Given the description of an element on the screen output the (x, y) to click on. 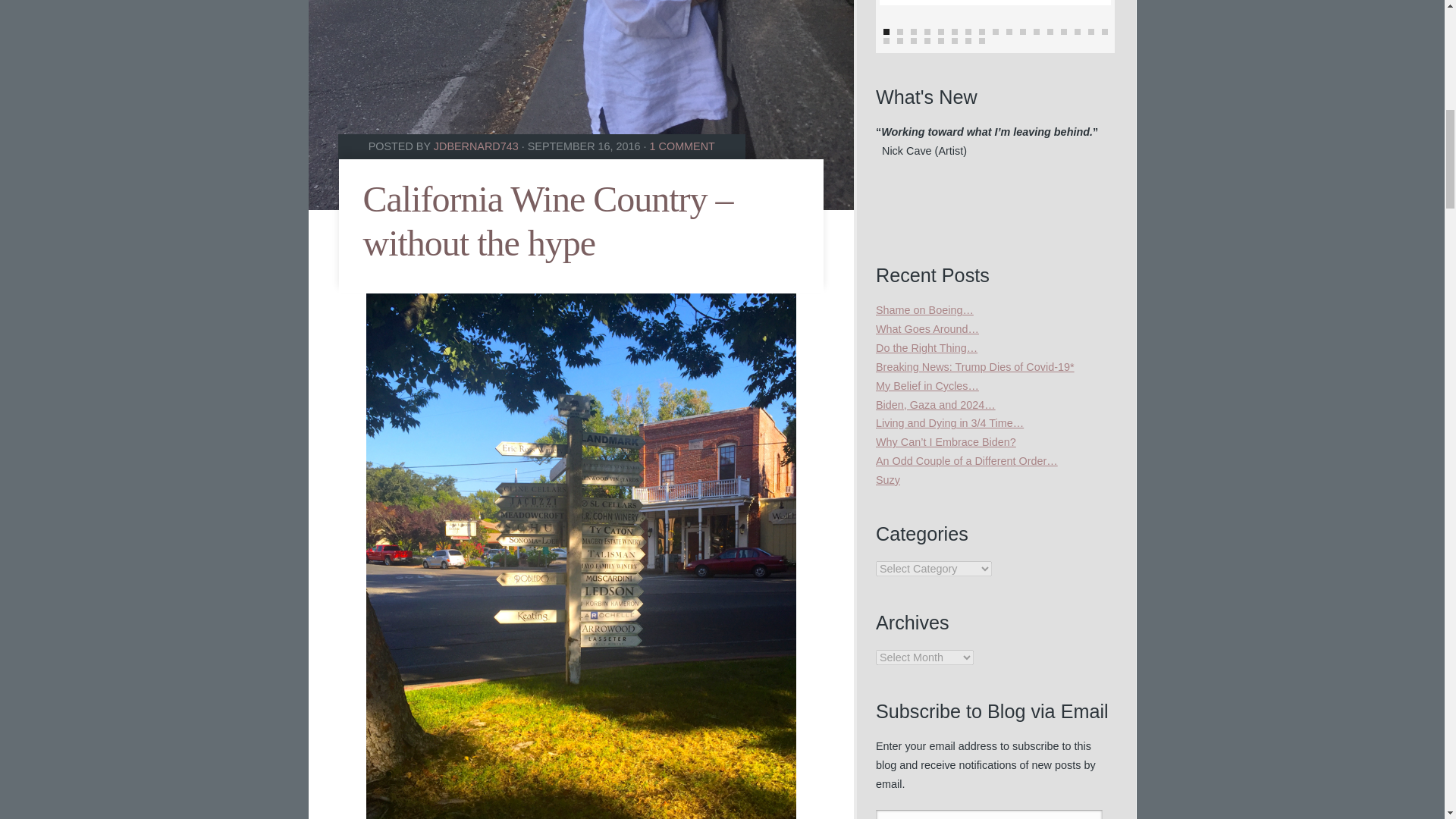
JDBERNARD743 (475, 146)
1 COMMENT (681, 146)
jdbernard743 (475, 146)
